Given the description of an element on the screen output the (x, y) to click on. 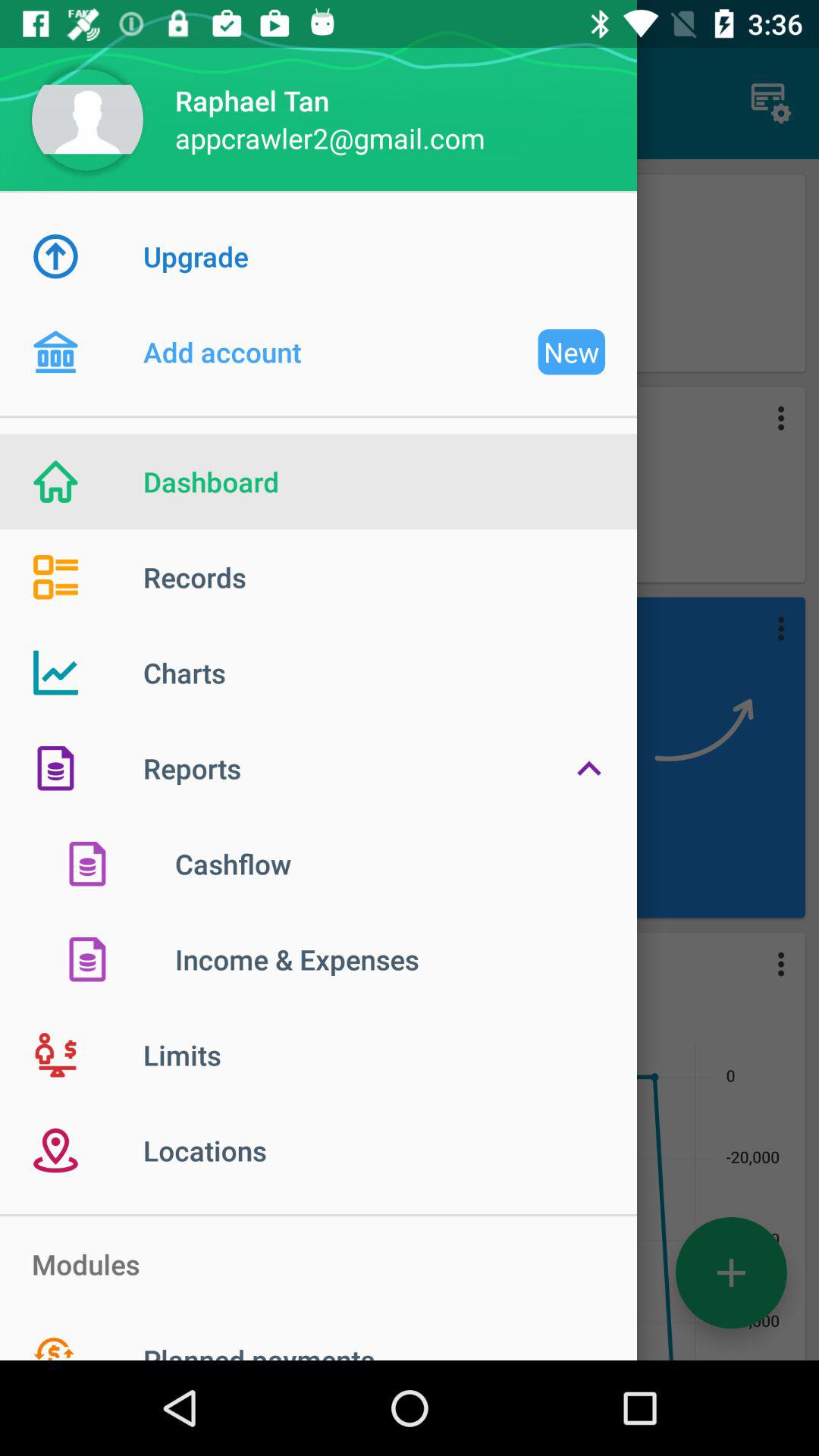
select the icon which is left side of the dashboard (87, 481)
select the icon on top right (771, 103)
click on third icon from top (772, 628)
